Given the description of an element on the screen output the (x, y) to click on. 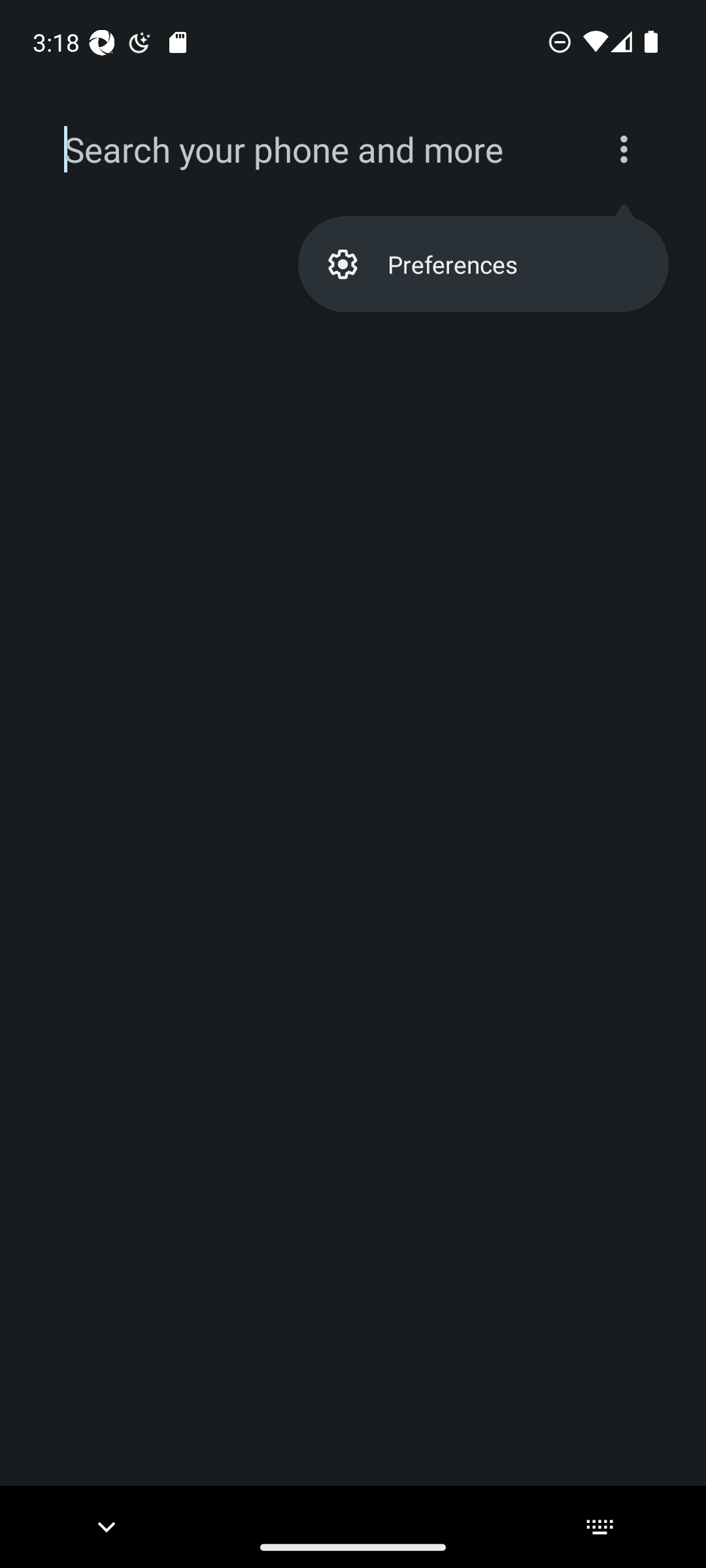
Preferences (482, 264)
